Given the description of an element on the screen output the (x, y) to click on. 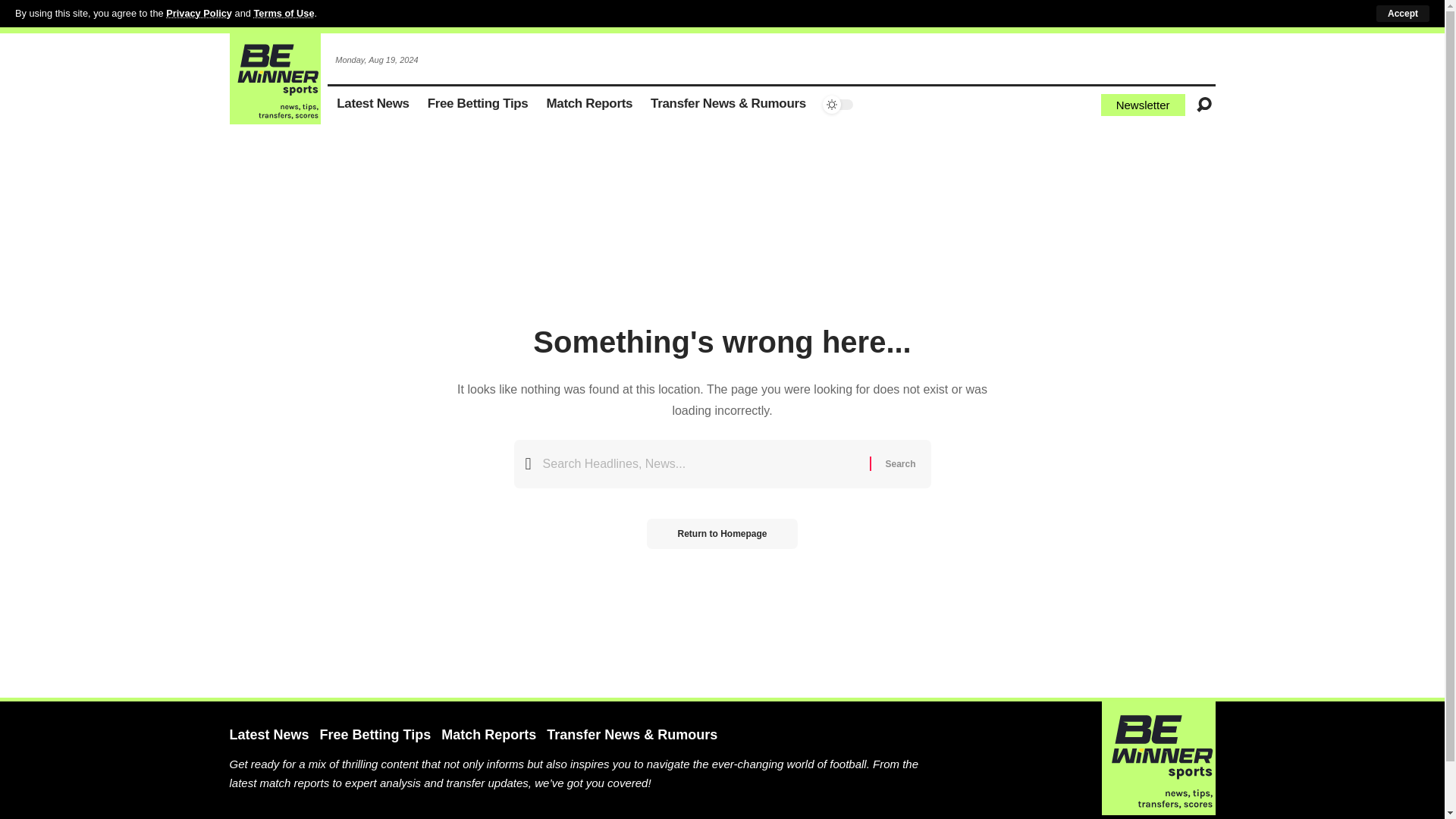
Privacy Policy (198, 12)
Free Betting Tips (478, 104)
Terms of Use (283, 12)
Search (899, 463)
Latest News (372, 104)
Accept (1402, 13)
Newsletter (1142, 105)
Match Reports (589, 104)
